Given the description of an element on the screen output the (x, y) to click on. 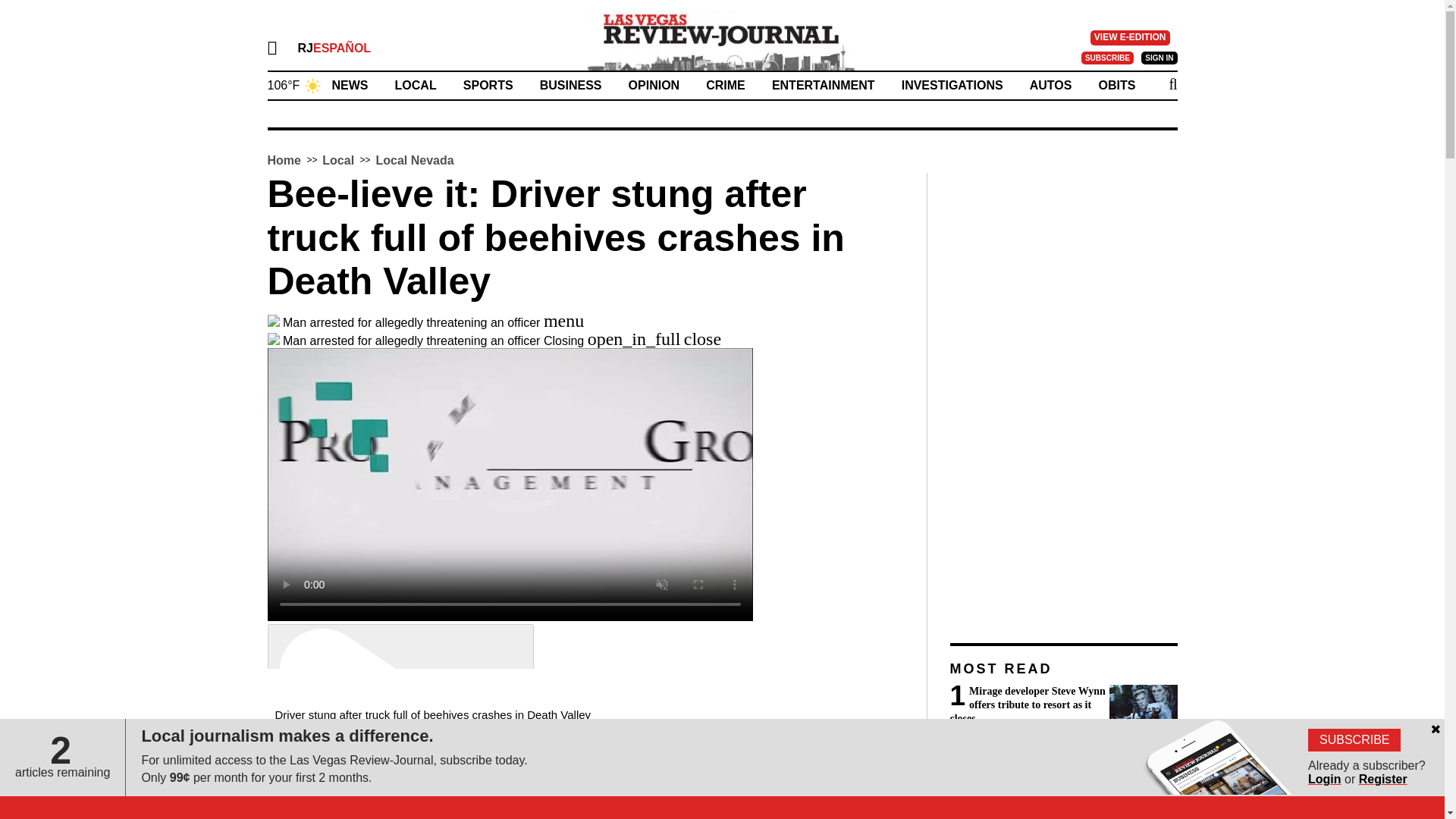
Weather Forecast (293, 83)
SUBSCRIBE (1107, 58)
SIGN IN (1158, 58)
VIEW E-EDITION (1130, 37)
BUSINESS (571, 84)
ENTERTAINMENT (823, 84)
SPORTS (488, 84)
OPINION (653, 84)
INVESTIGATIONS (952, 84)
LOCAL (415, 84)
AUTOS (1050, 84)
Las Vegas News (721, 39)
NEWS (349, 84)
CRIME (725, 84)
OBITS (1117, 84)
